Given the description of an element on the screen output the (x, y) to click on. 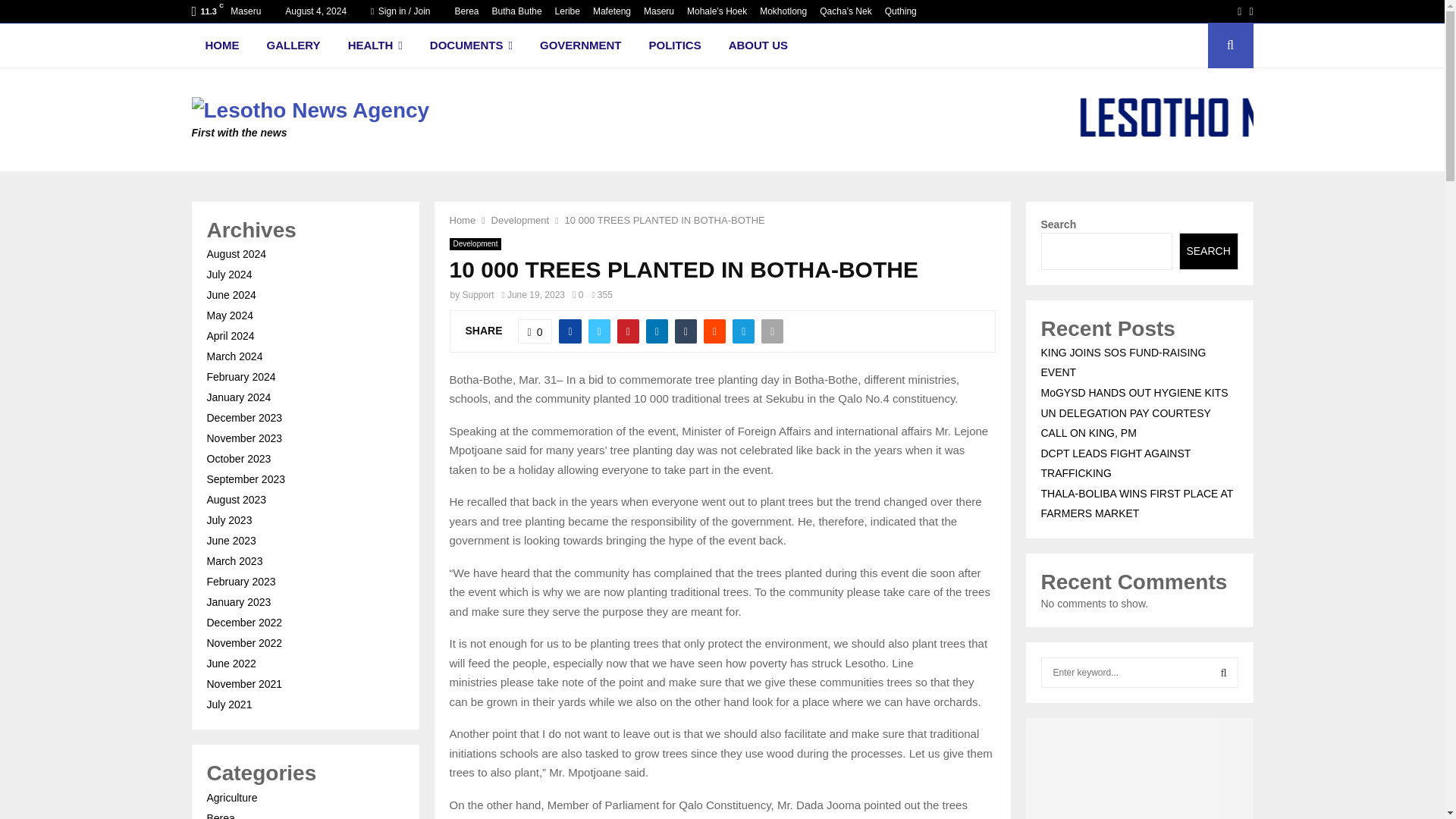
Login to your account (722, 293)
Like (535, 331)
Leribe (566, 11)
Quthing (901, 11)
HEALTH (375, 44)
Mafeteng (611, 11)
Berea (466, 11)
Maseru (658, 11)
Butha Buthe (516, 11)
Sign up new account (722, 415)
